Given the description of an element on the screen output the (x, y) to click on. 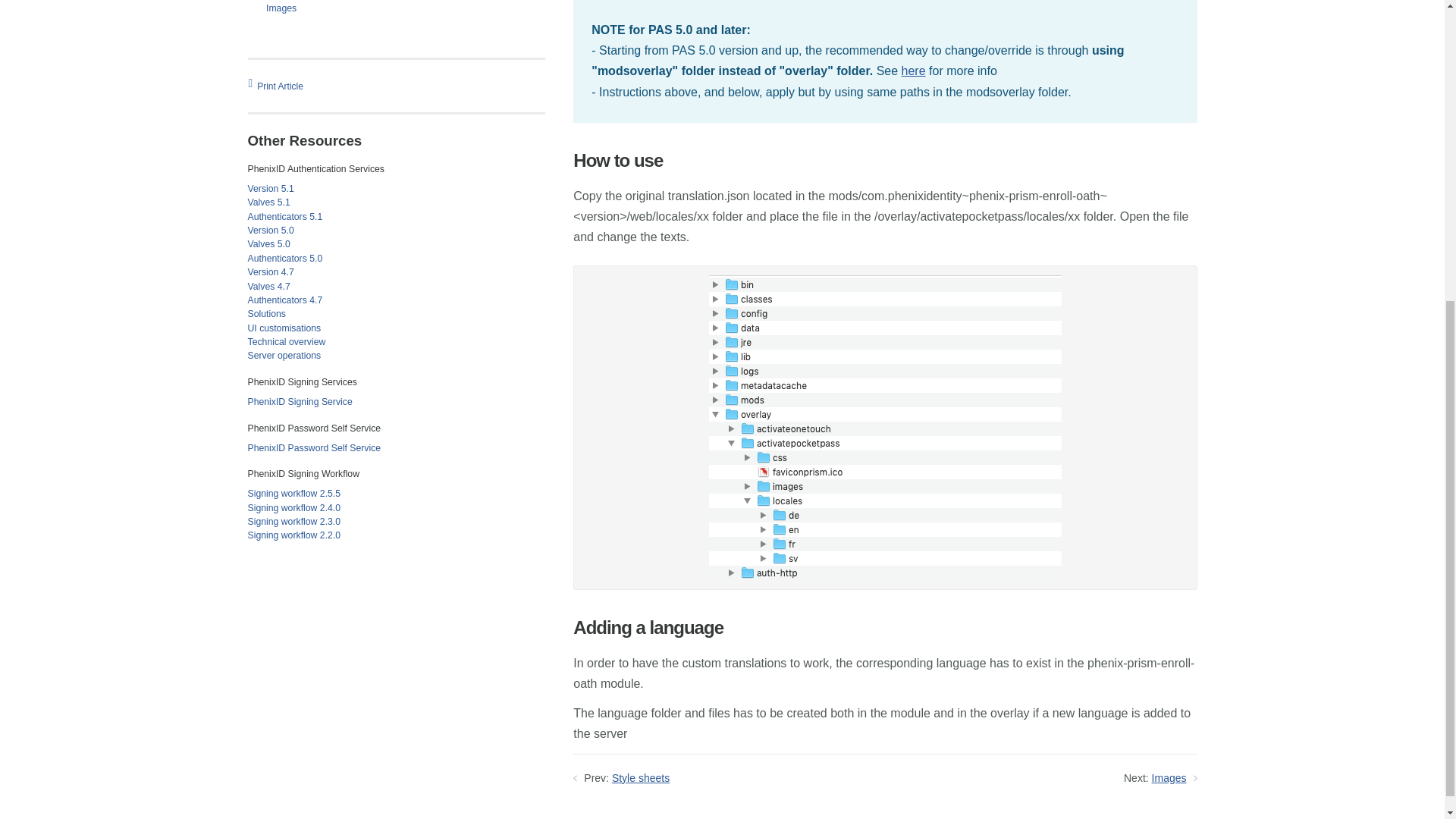
Version 5.1 (270, 188)
Images (281, 8)
Images (1168, 777)
Version 5.0 (270, 230)
Authenticators 4.7 (284, 299)
Valves 4.7 (268, 286)
Technical overview (285, 341)
here (913, 70)
Authenticators 5.0 (284, 258)
Valves 5.1 (268, 202)
